Given the description of an element on the screen output the (x, y) to click on. 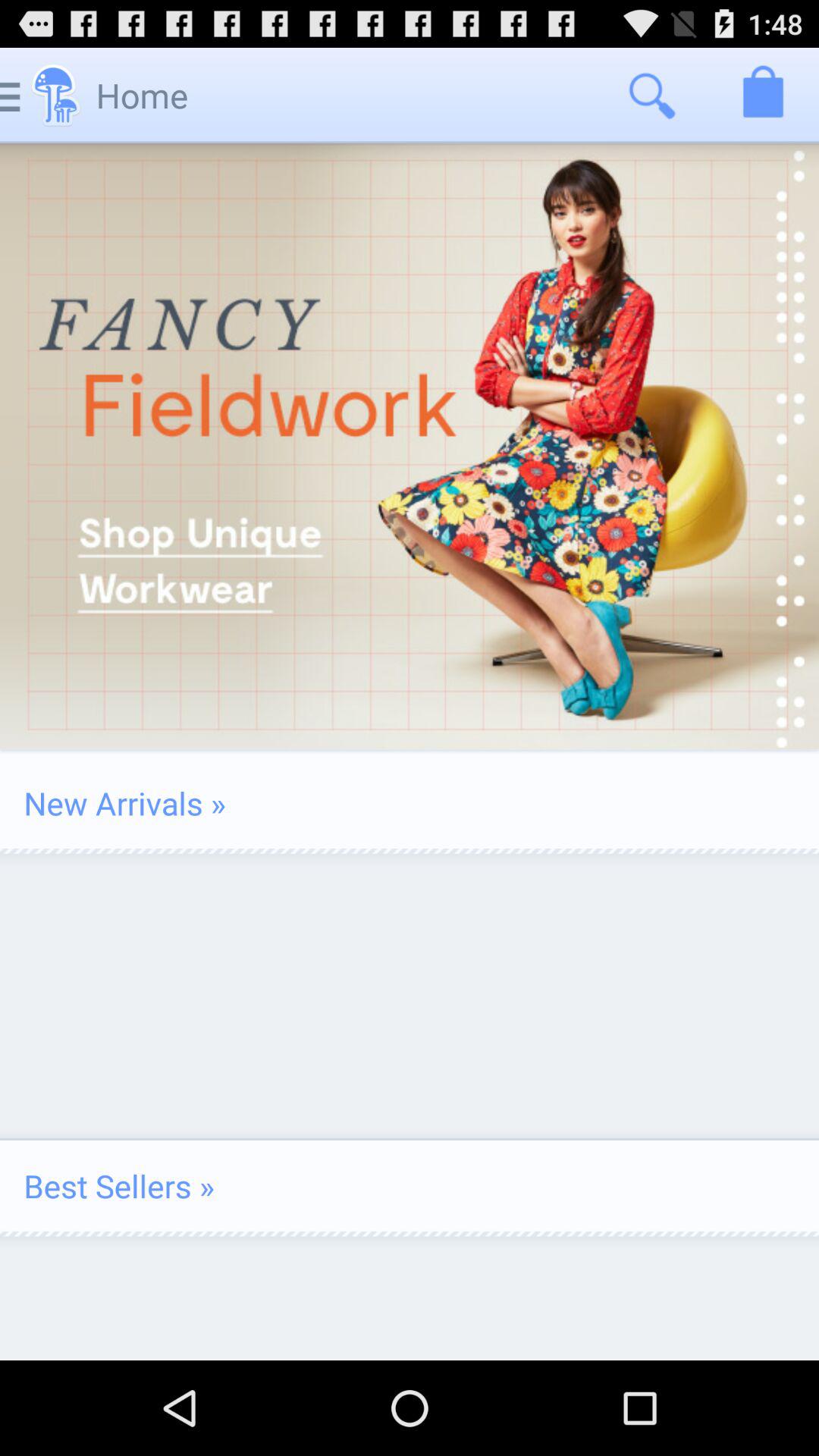
open icon next to home icon (651, 95)
